Given the description of an element on the screen output the (x, y) to click on. 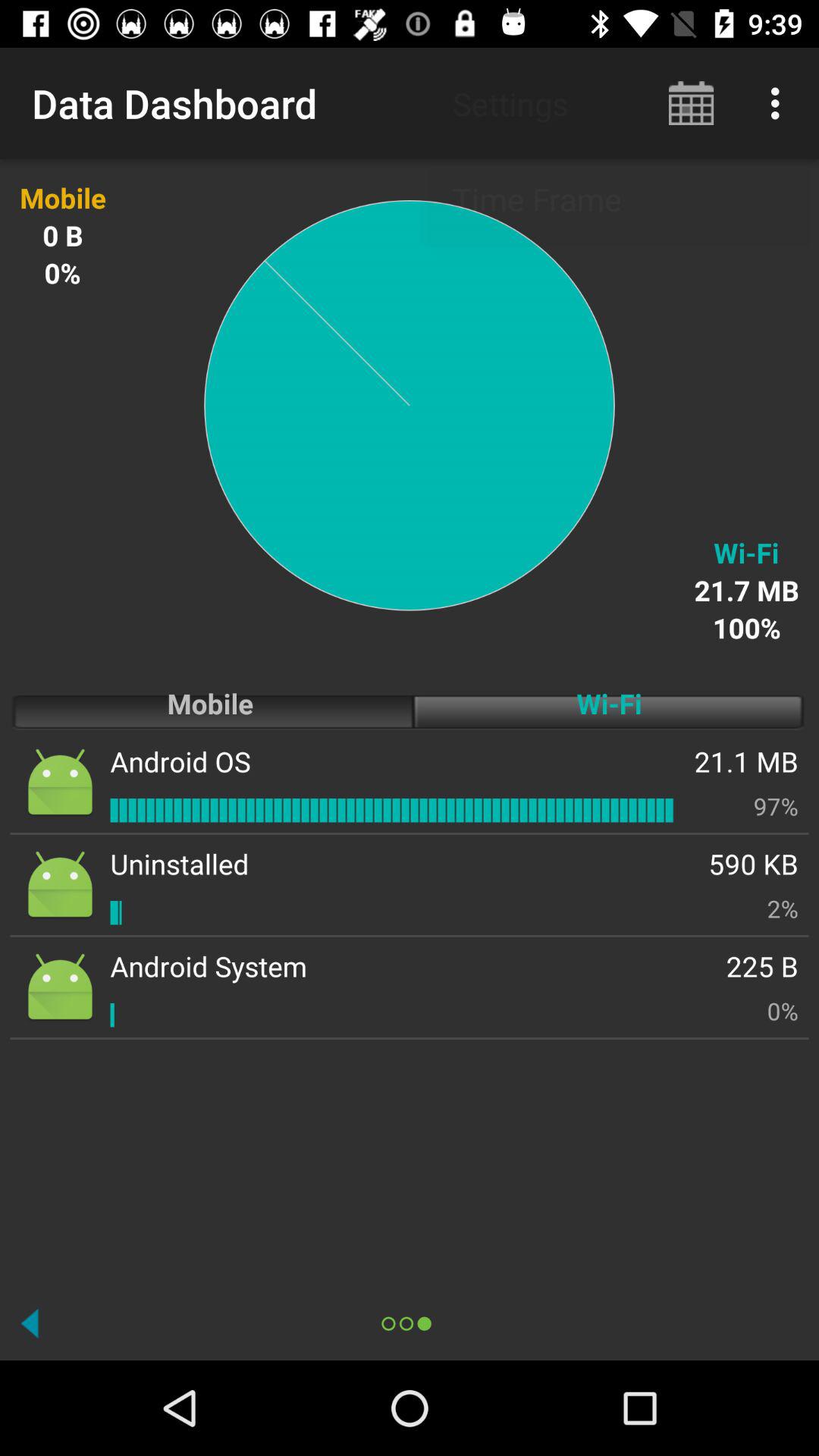
flip until uninstalled icon (179, 863)
